Given the description of an element on the screen output the (x, y) to click on. 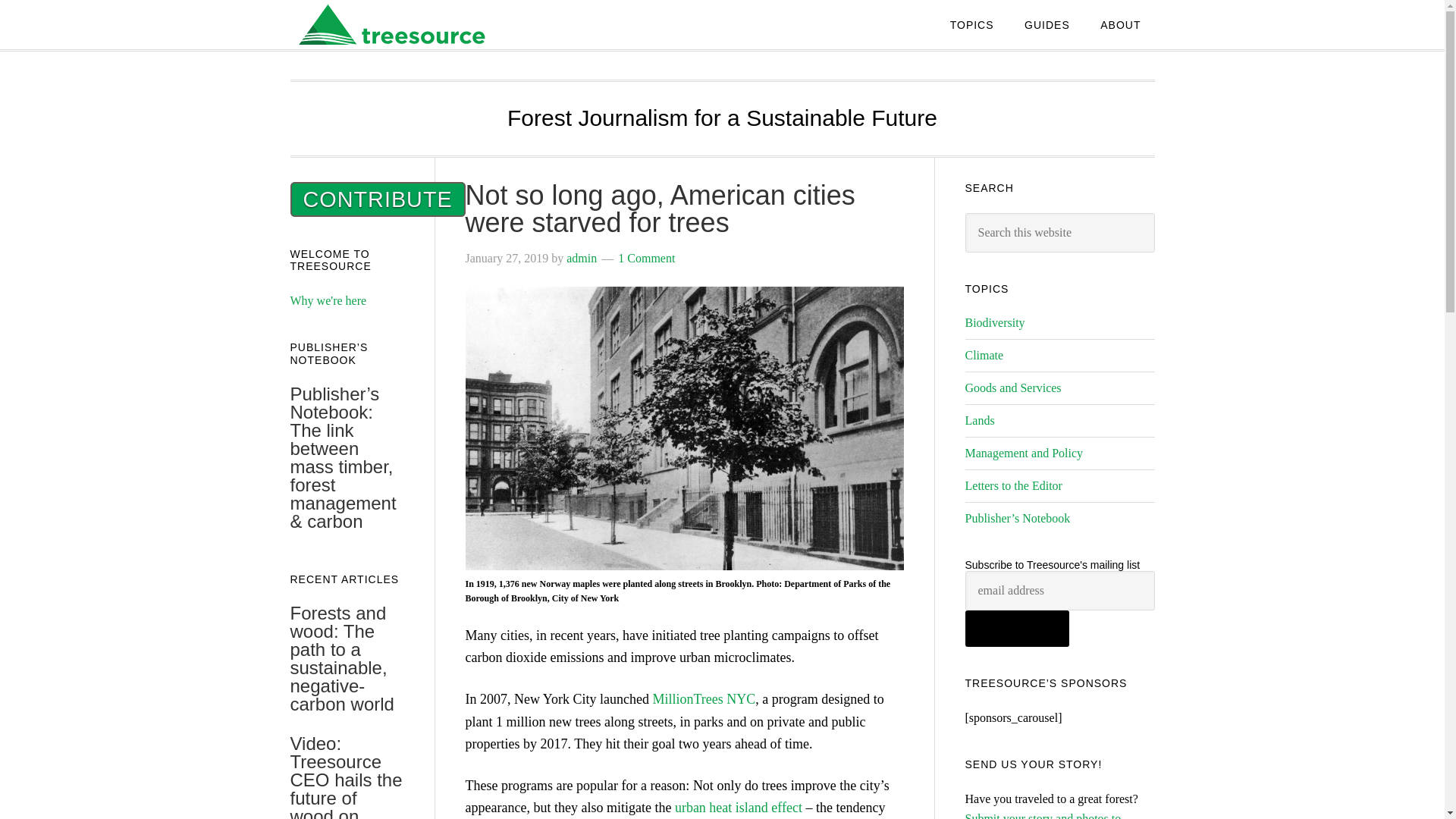
Submit your story and photos to Treesource here (1042, 815)
Not so long ago, American cities were starved for trees (660, 208)
MillionTrees NYC (703, 698)
GUIDES (1046, 24)
CONTRIBUTE (376, 199)
Biodiversity (994, 322)
Subscribe (1015, 628)
ABOUT (1120, 24)
Lands (978, 420)
TREESOURCE (410, 24)
Management and Policy (1023, 452)
urban heat island effect (738, 807)
Goods and Services (1012, 387)
TOPICS (971, 24)
